Given the description of an element on the screen output the (x, y) to click on. 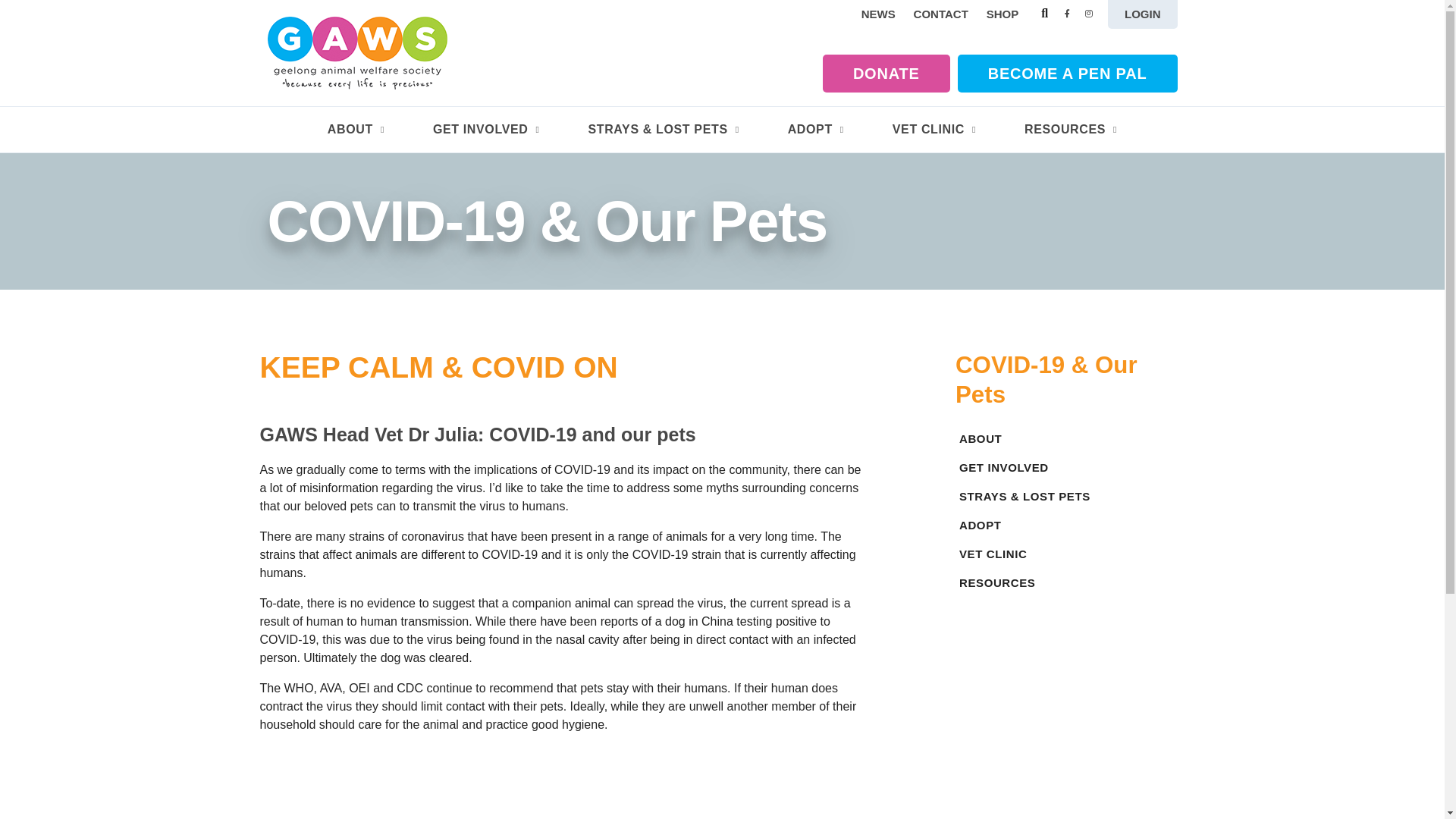
VET CLINIC Element type: text (1066, 553)
DONATE Element type: text (886, 73)
RESOURCES Element type: text (1070, 129)
ADOPT Element type: text (815, 129)
GET INVOLVED Element type: text (486, 129)
COVID-19 & Our Pets Element type: text (1066, 379)
STRAYS & LOST PETS Element type: text (1066, 496)
VET CLINIC Element type: text (933, 129)
ABOUT Element type: text (355, 129)
NEWS Element type: text (878, 14)
ADOPT Element type: text (1066, 525)
GET INVOLVED Element type: text (1066, 467)
SHOP Element type: text (1002, 14)
CONTACT Element type: text (940, 14)
RESOURCES Element type: text (1066, 582)
BECOME A PEN PAL Element type: text (1067, 73)
ABOUT Element type: text (1066, 438)
STRAYS & LOST PETS Element type: text (662, 129)
LOGIN Element type: text (1142, 14)
